Given the description of an element on the screen output the (x, y) to click on. 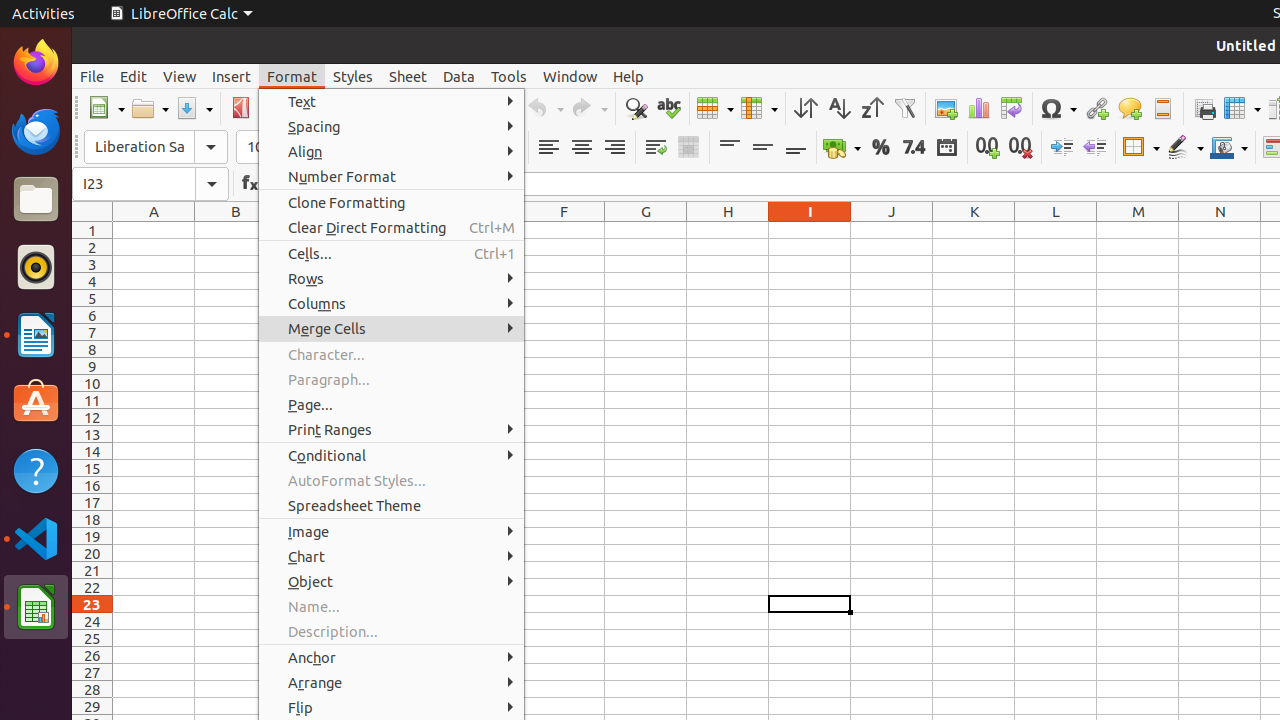
Name Box Element type: text (133, 184)
Align Center Element type: push-button (581, 147)
AutoFormat Styles... Element type: menu-item (391, 480)
Merge and Center Cells Element type: menu-item (630, 328)
IsaHelpMain.desktop Element type: label (133, 300)
